Given the description of an element on the screen output the (x, y) to click on. 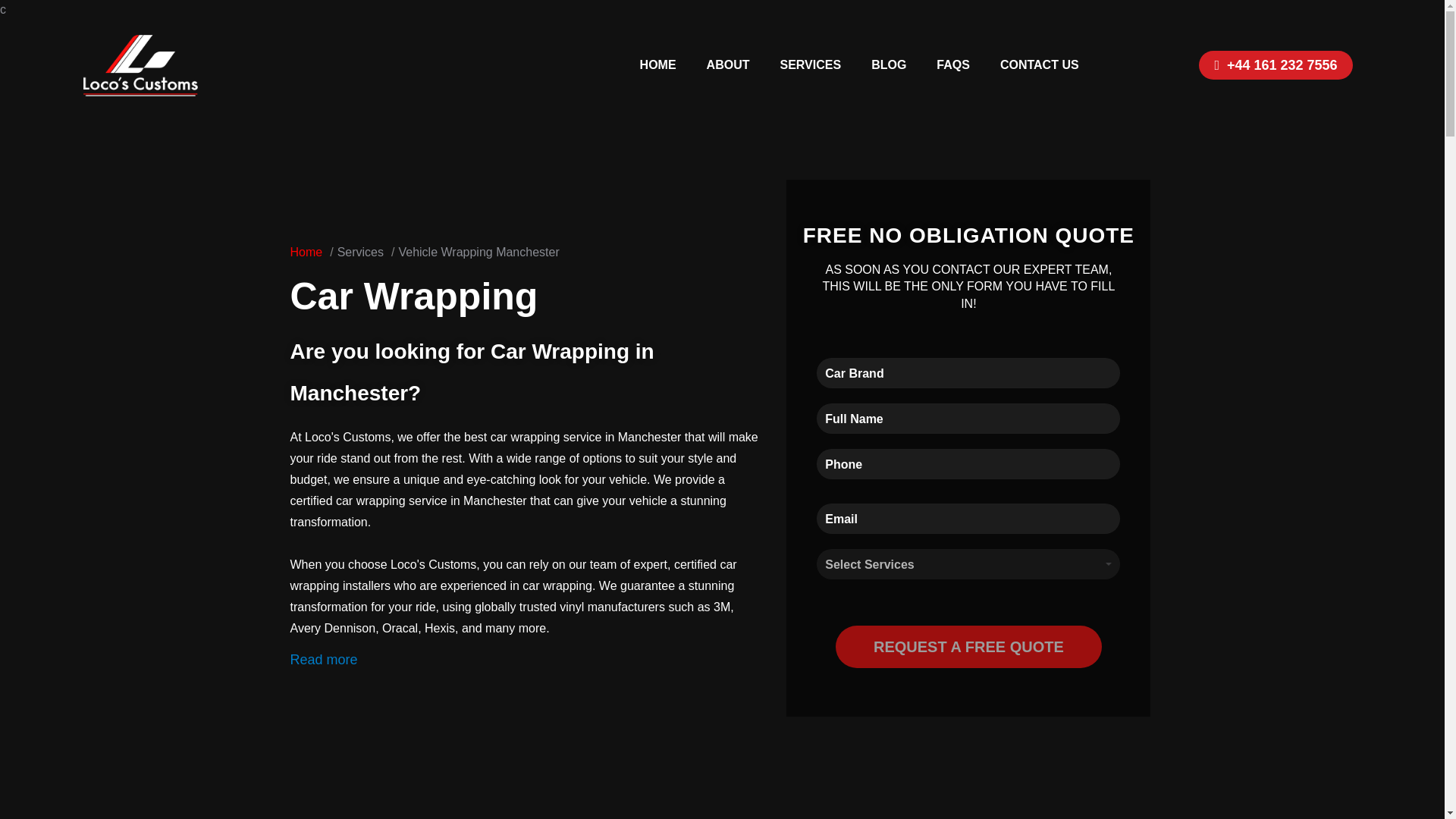
Home (311, 252)
FAQS (953, 64)
HOME (657, 64)
BLOG (888, 64)
CONTACT US (1039, 64)
REQUEST A FREE QUOTE (968, 646)
ABOUT (728, 64)
CONTACT US (1039, 64)
Services (365, 251)
SERVICES (810, 64)
